Given the description of an element on the screen output the (x, y) to click on. 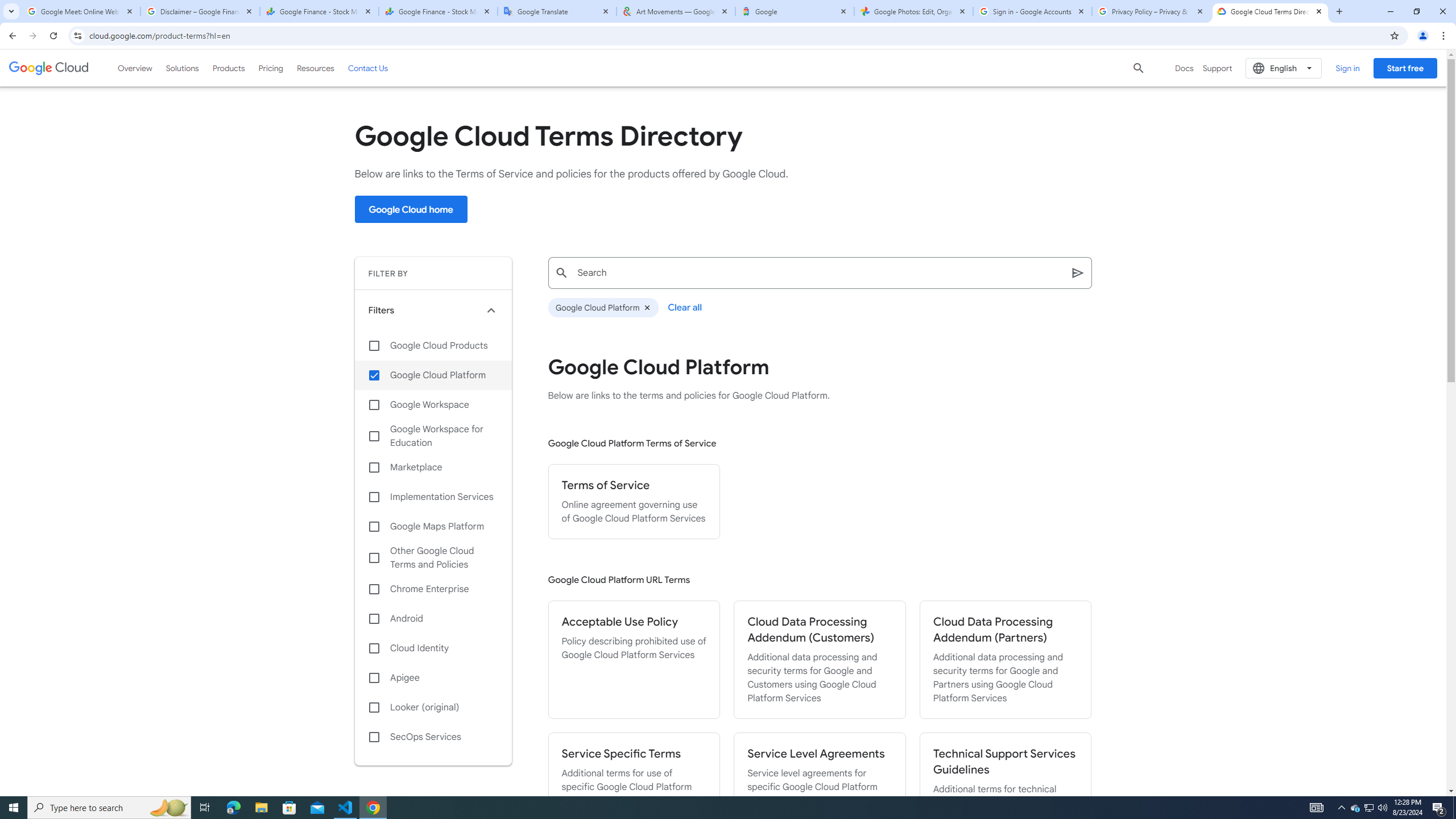
Google Cloud home (410, 208)
Google Translate (556, 11)
Docs (1183, 67)
Google Cloud Terms Directory | Google Cloud (1270, 11)
Clear all (685, 307)
Google Cloud Platform (432, 374)
Pricing (270, 67)
